Given the description of an element on the screen output the (x, y) to click on. 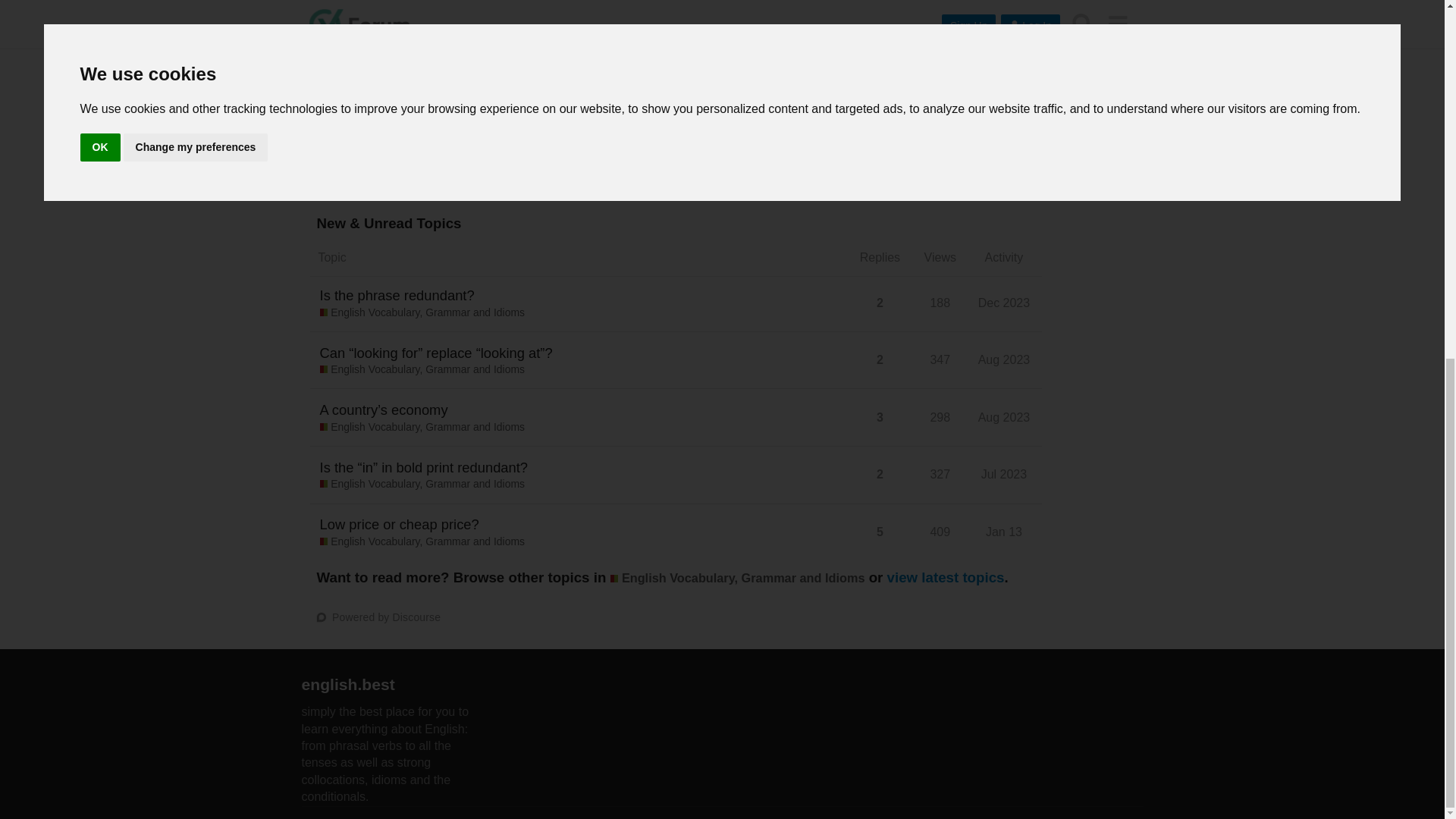
English Vocabulary, Grammar and Idioms (422, 313)
Is the phrase redundant? (397, 295)
Reply (843, 143)
Dec 2023 (1003, 303)
